Given the description of an element on the screen output the (x, y) to click on. 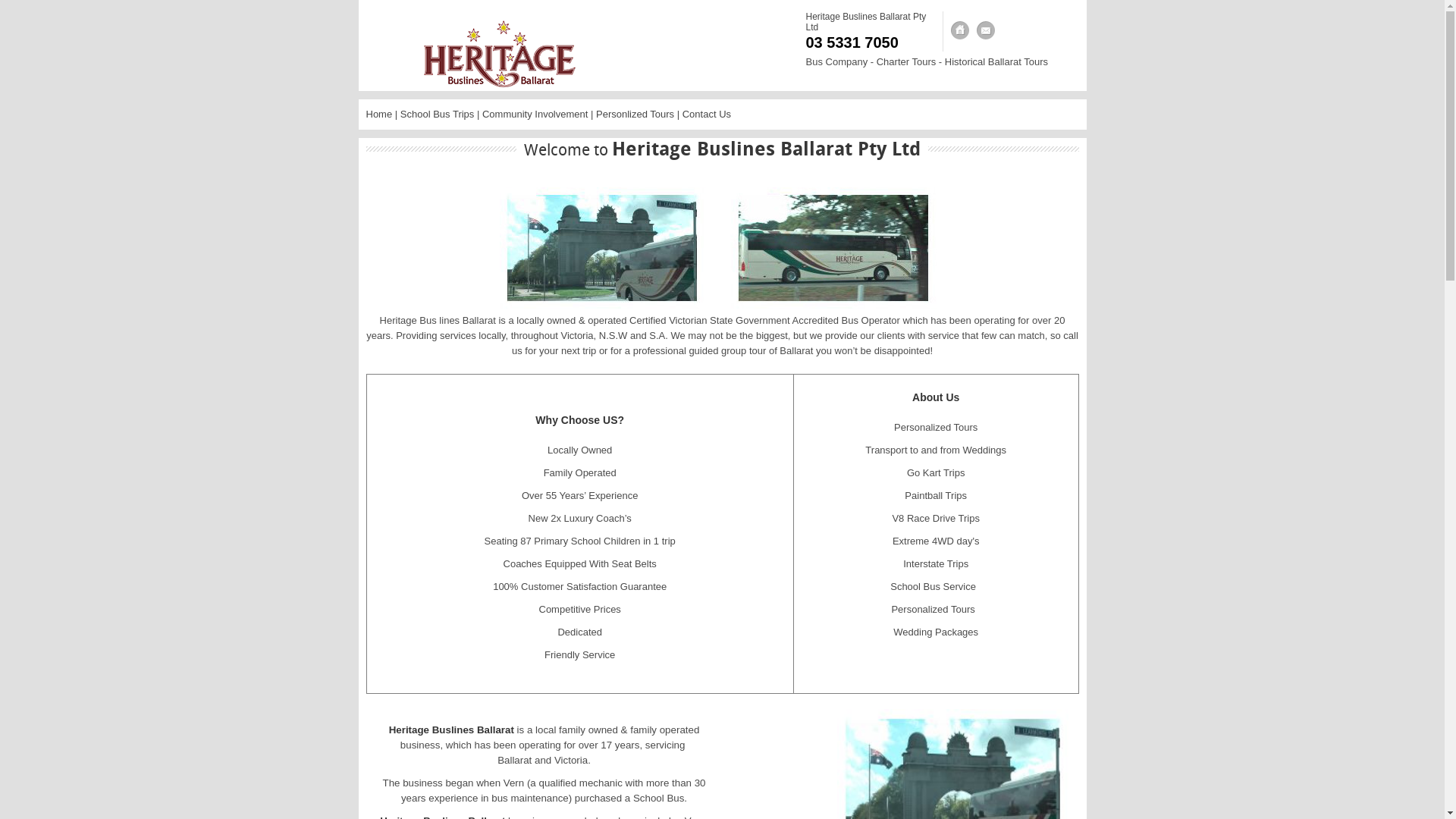
Contact Us Element type: hover (985, 30)
Personlized Tours Element type: text (635, 113)
Home Element type: text (378, 113)
Heritage Buslines Ballarat Pty Ltd Element type: text (865, 21)
School Bus Trips Element type: text (437, 113)
Contact Us Element type: text (706, 113)
Home Element type: hover (959, 30)
Community Involvement Element type: text (534, 113)
